Given the description of an element on the screen output the (x, y) to click on. 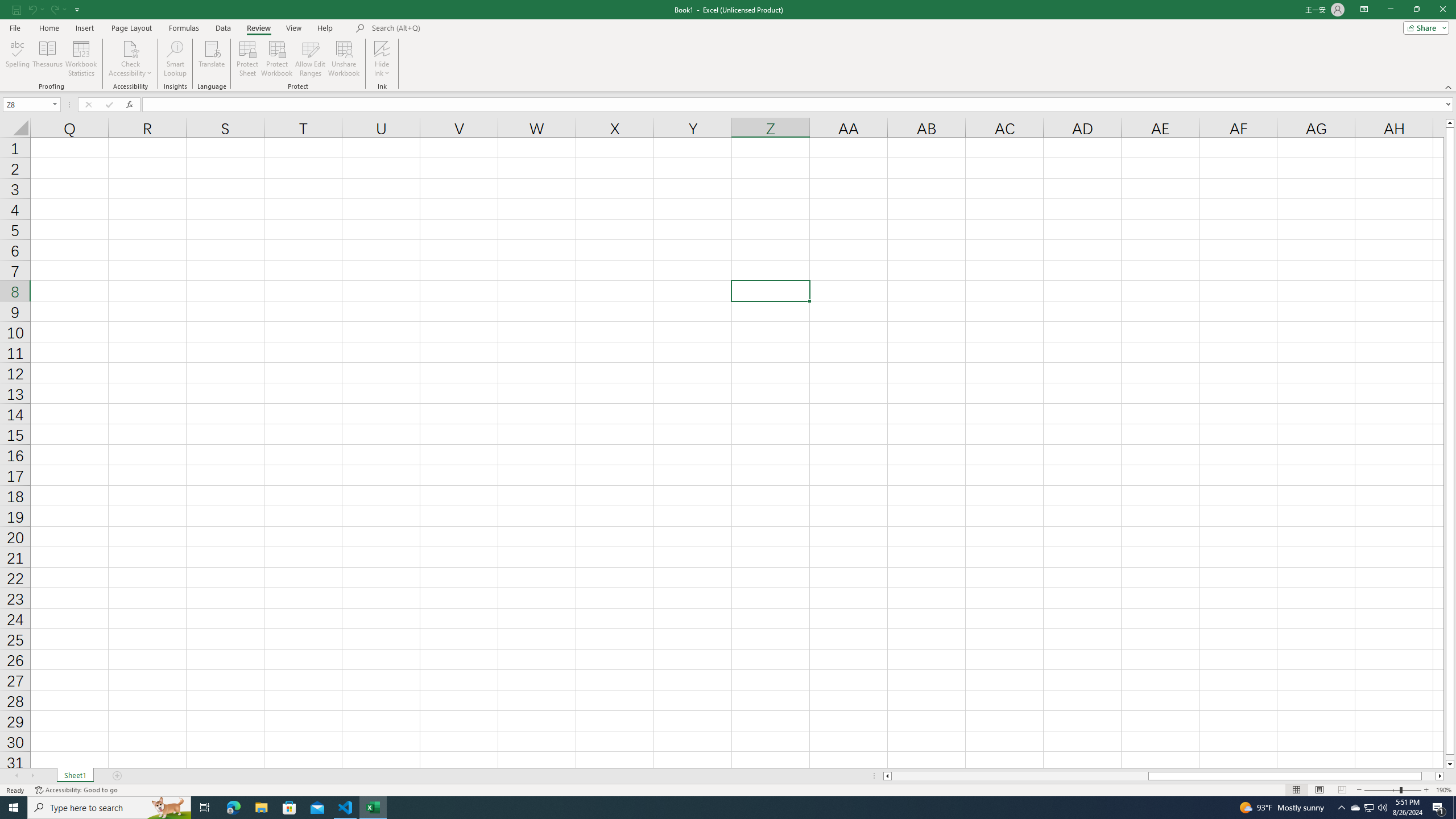
Smart Lookup (175, 58)
Protect Sheet... (247, 58)
Unshare Workbook (344, 58)
Allow Edit Ranges (310, 58)
